Given the description of an element on the screen output the (x, y) to click on. 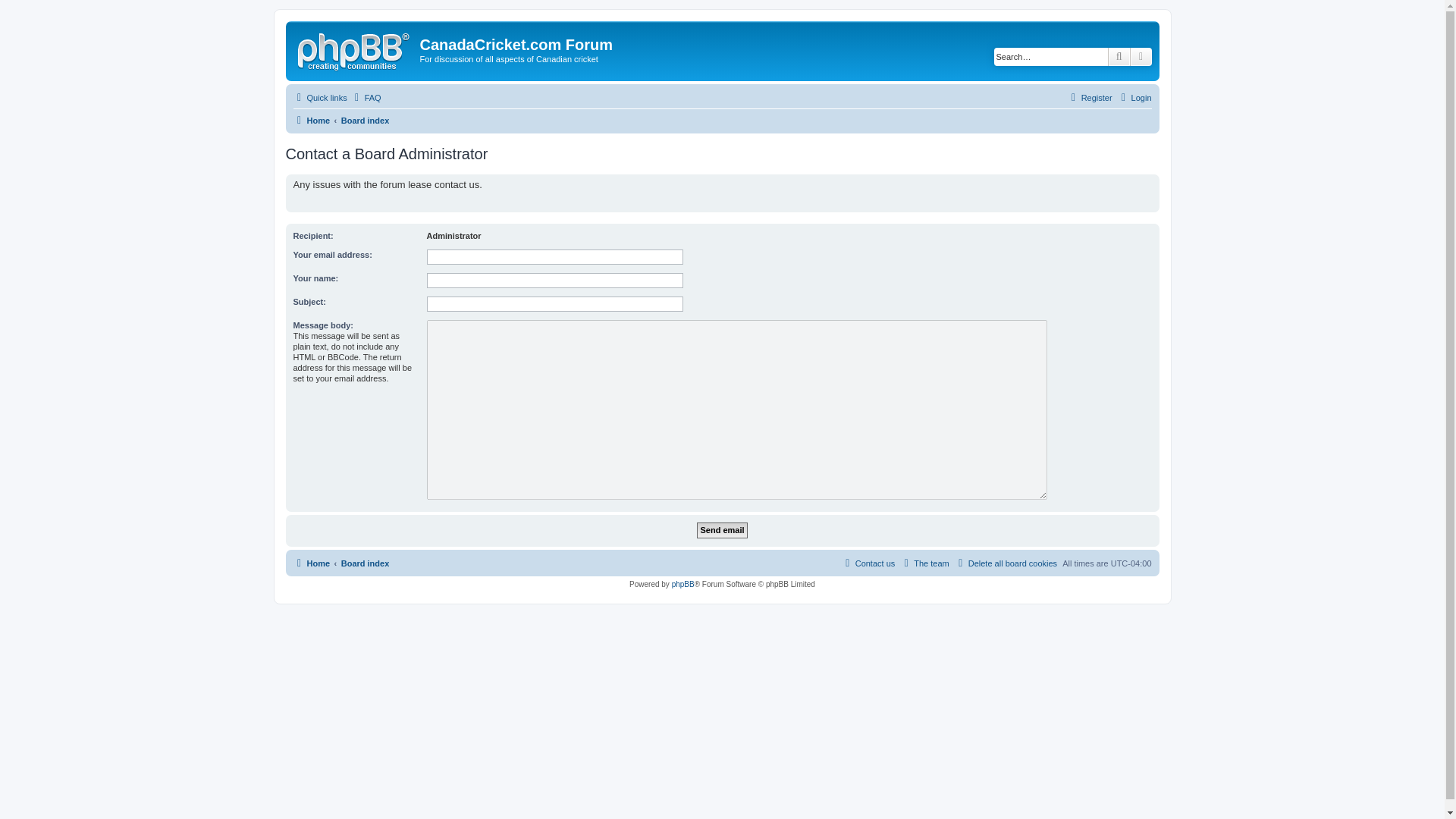
Board index (365, 563)
Login (1134, 97)
Frequently Asked Questions (365, 97)
Advanced search (1141, 56)
Send email (721, 530)
Board index (365, 120)
Delete all board cookies (1006, 563)
Home (311, 563)
Quick links (319, 97)
Home (311, 120)
Register (1089, 97)
Board index (365, 120)
The team (924, 563)
phpBB (682, 583)
FAQ (365, 97)
